Given the description of an element on the screen output the (x, y) to click on. 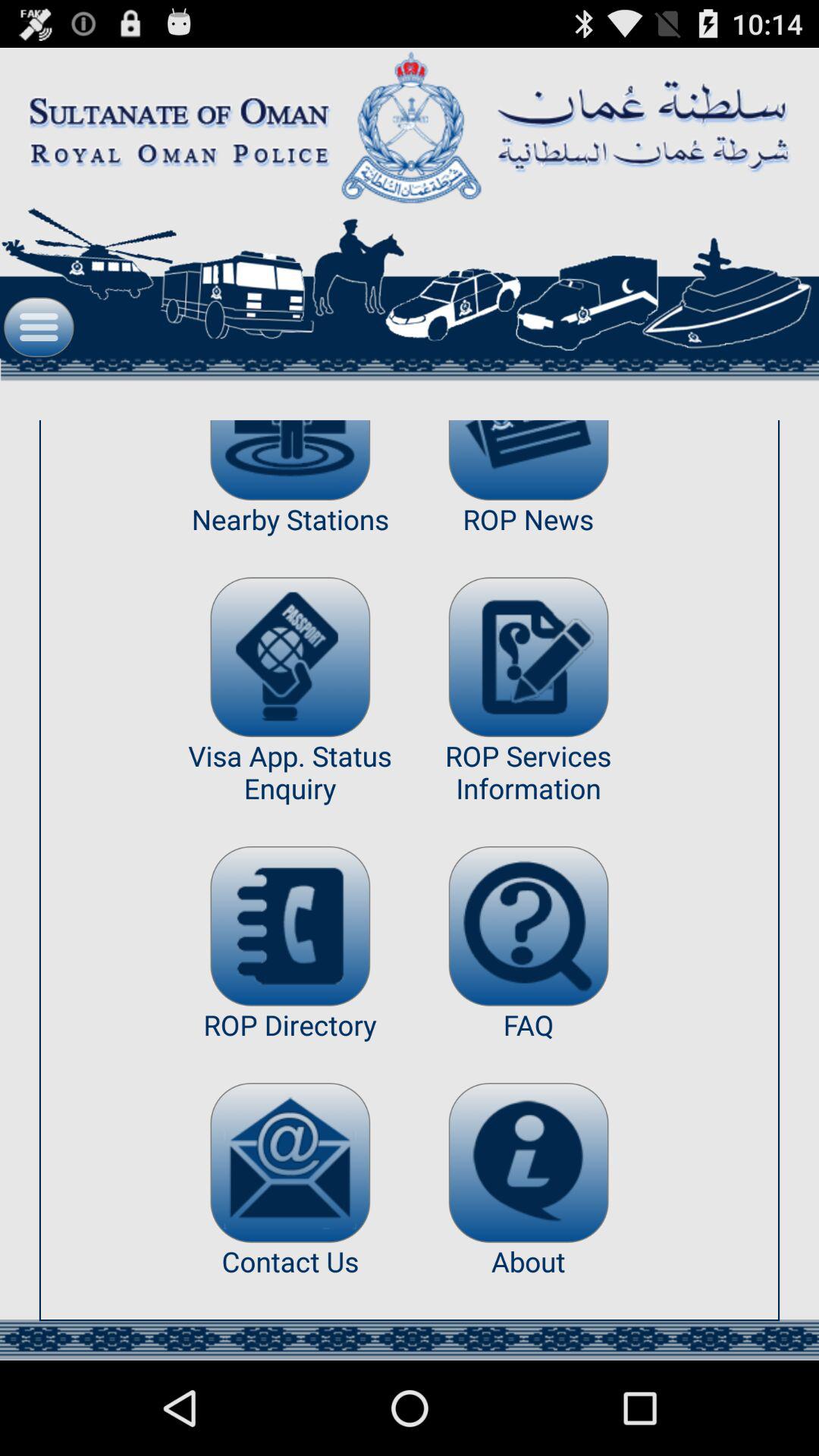
news (528, 460)
